Given the description of an element on the screen output the (x, y) to click on. 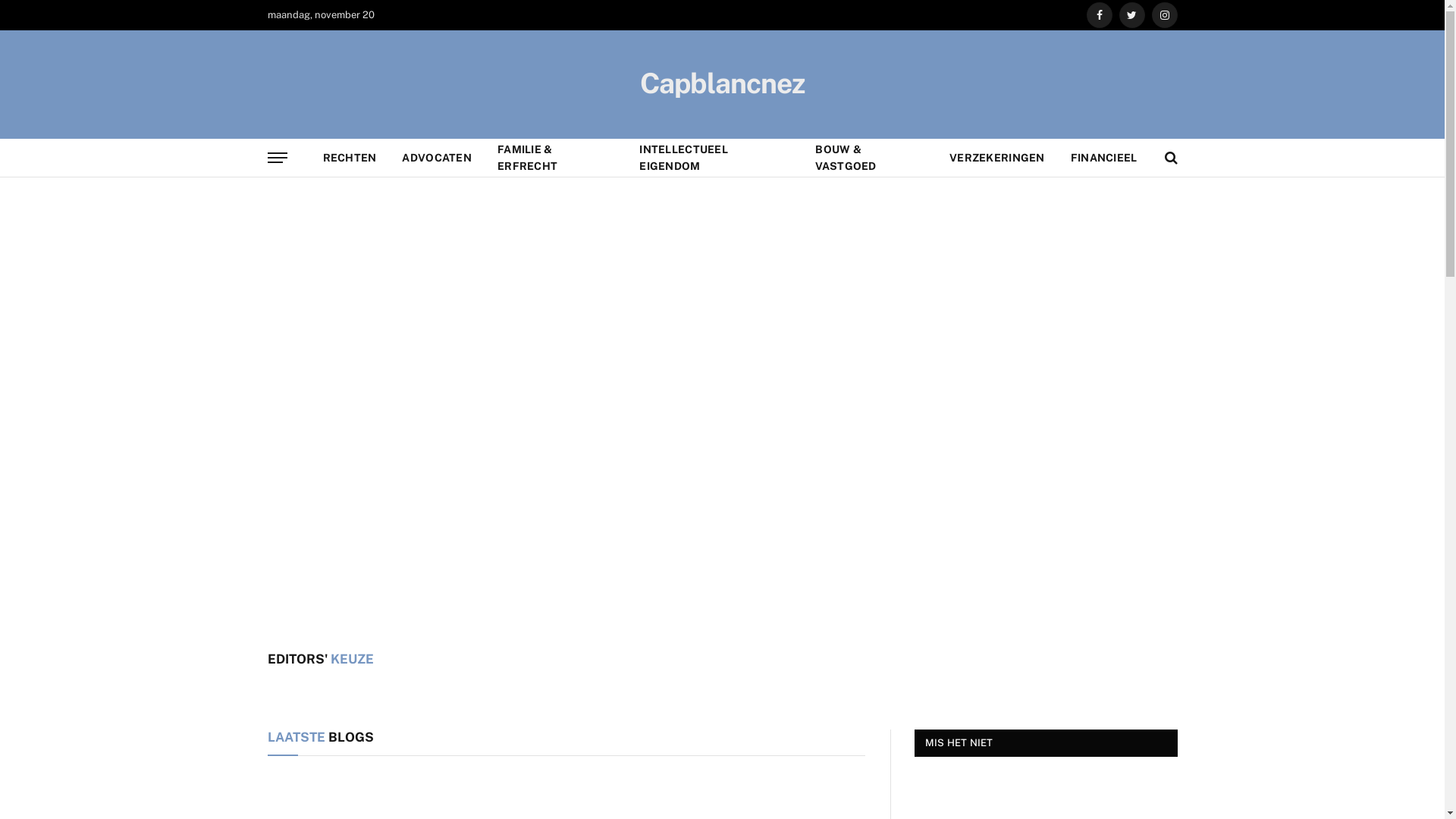
FINANCIEEL Element type: text (1103, 157)
Search Element type: hover (1169, 158)
VERZEKERINGEN Element type: text (996, 157)
FAMILIE & ERFRECHT Element type: text (555, 157)
RECHTEN Element type: text (349, 157)
Instagram Element type: text (1163, 15)
Twitter Element type: text (1132, 15)
Capblancnez Element type: text (722, 83)
ADVOCATEN Element type: text (436, 157)
Facebook Element type: text (1098, 15)
INTELLECTUEEL EIGENDOM Element type: text (714, 157)
BOUW & VASTGOED Element type: text (869, 157)
